Given the description of an element on the screen output the (x, y) to click on. 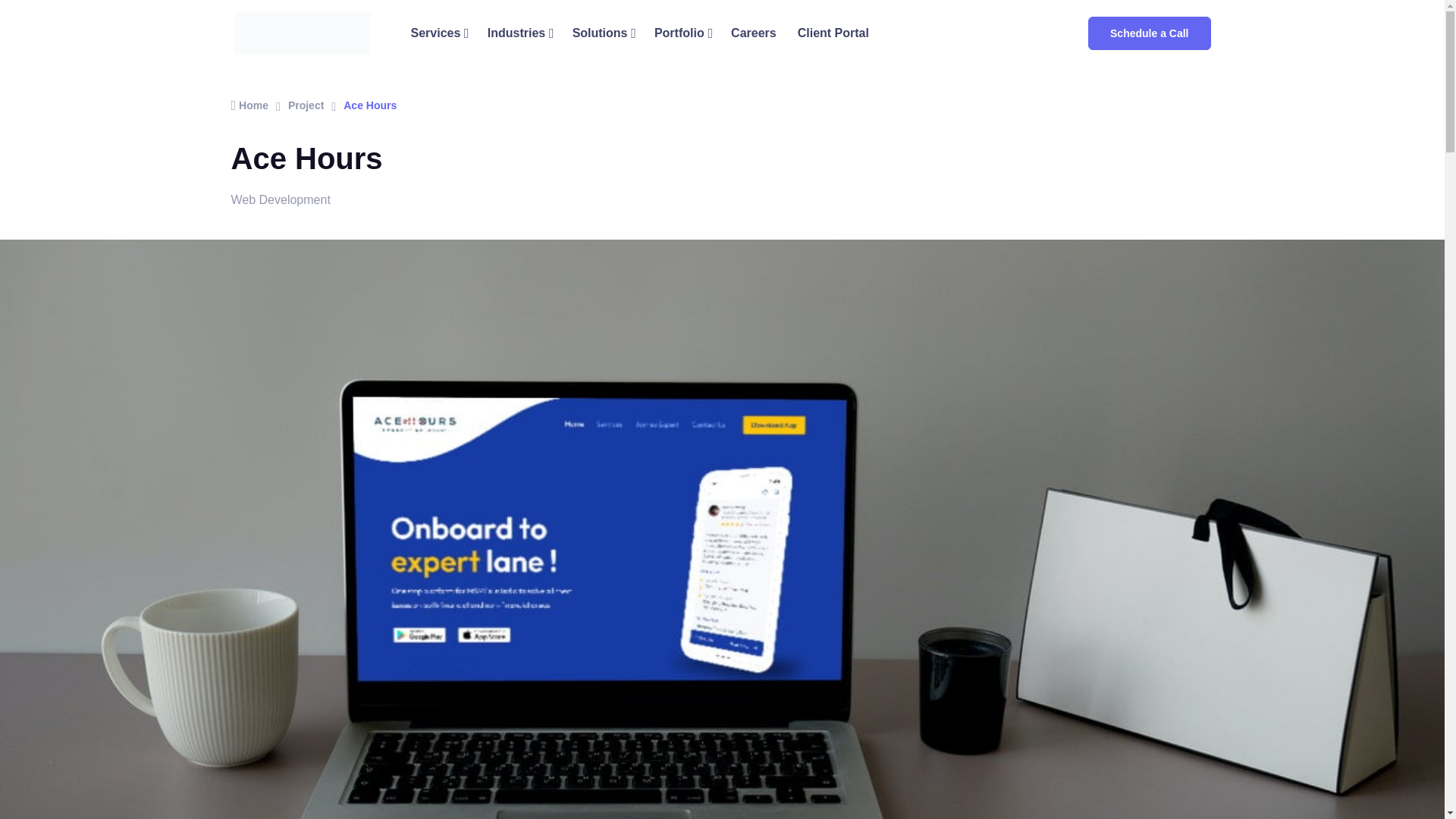
Services (438, 33)
Industries (519, 33)
Services (438, 33)
